Given the description of an element on the screen output the (x, y) to click on. 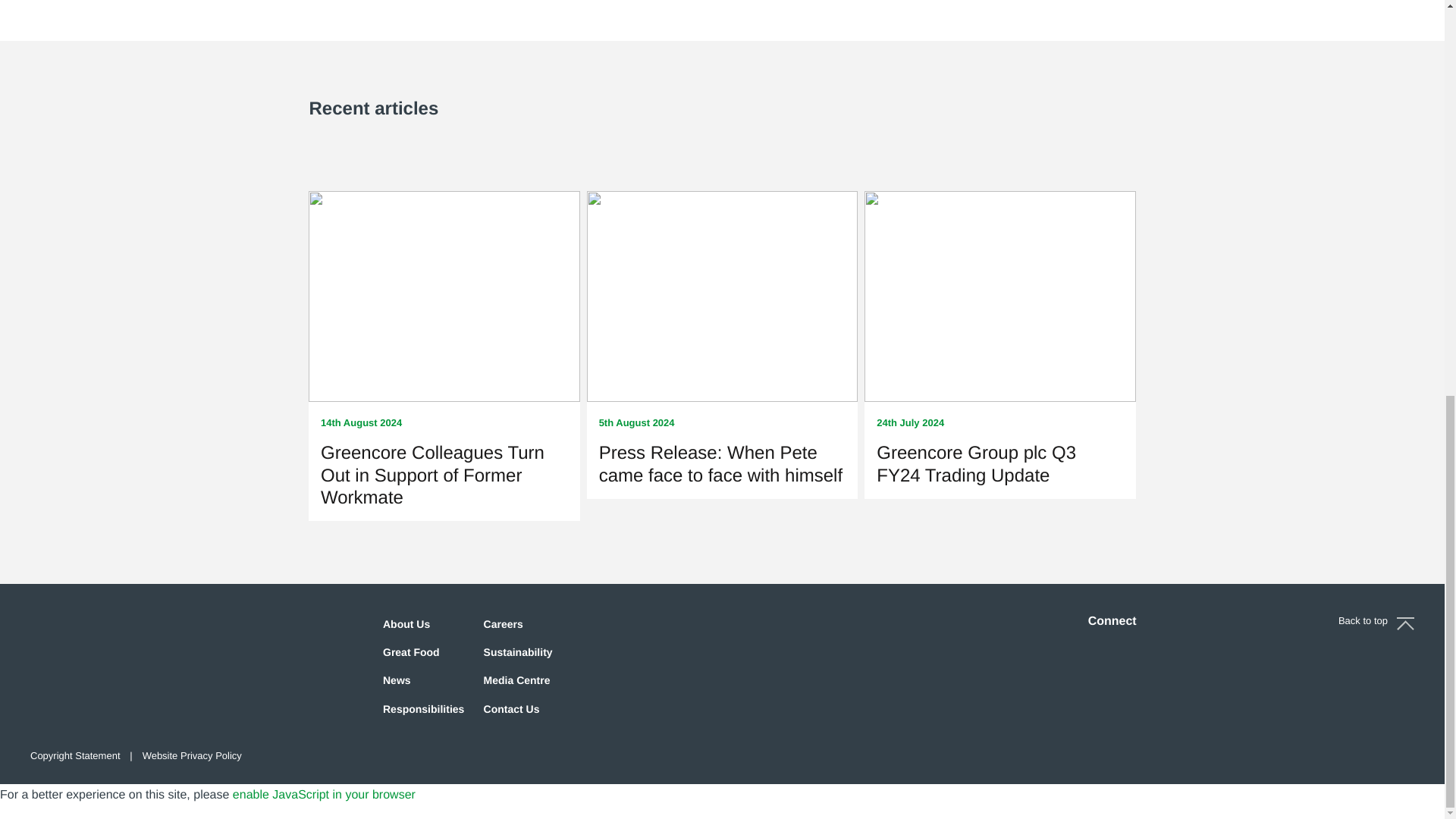
Greencore Group plc Q3 FY24 Trading Update (975, 464)
Back to top (1375, 621)
Return to Greencore homepage (106, 649)
Greencore Colleagues Turn Out in Support of Former Workmate (432, 474)
Press Release: When Pete came face to face with himself (720, 464)
